Given the description of an element on the screen output the (x, y) to click on. 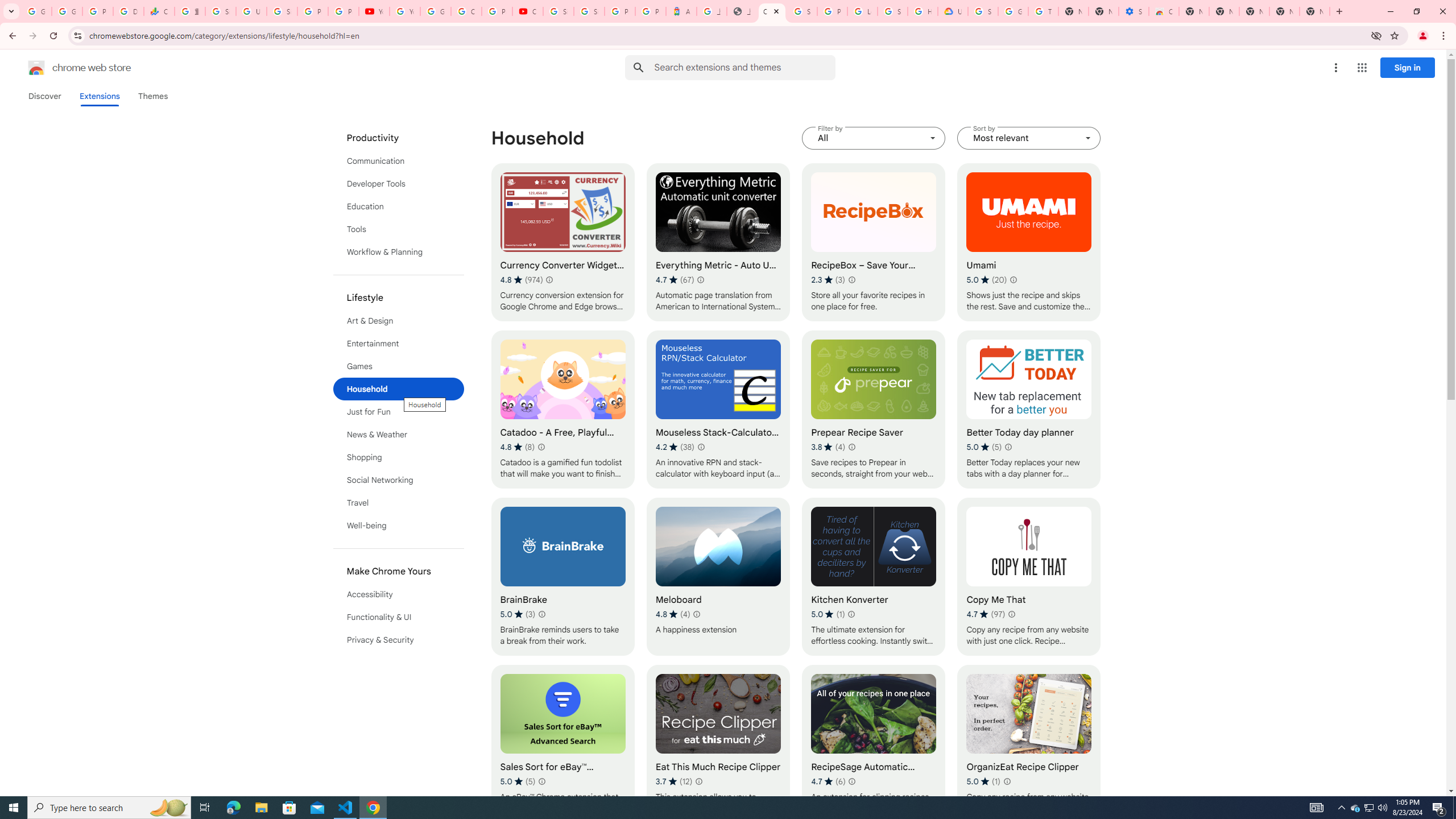
Copy Me That (1028, 576)
Sign in - Google Accounts (282, 11)
Sign in - Google Accounts (982, 11)
Chrome Web Store - Accessibility extensions (1163, 11)
Entertainment (398, 343)
Umami (1028, 241)
Currency Converter Widget - Exchange Rates (562, 241)
Communication (398, 160)
Extensions (99, 95)
Learn more about results and reviews "Umami" (1013, 279)
